Given the description of an element on the screen output the (x, y) to click on. 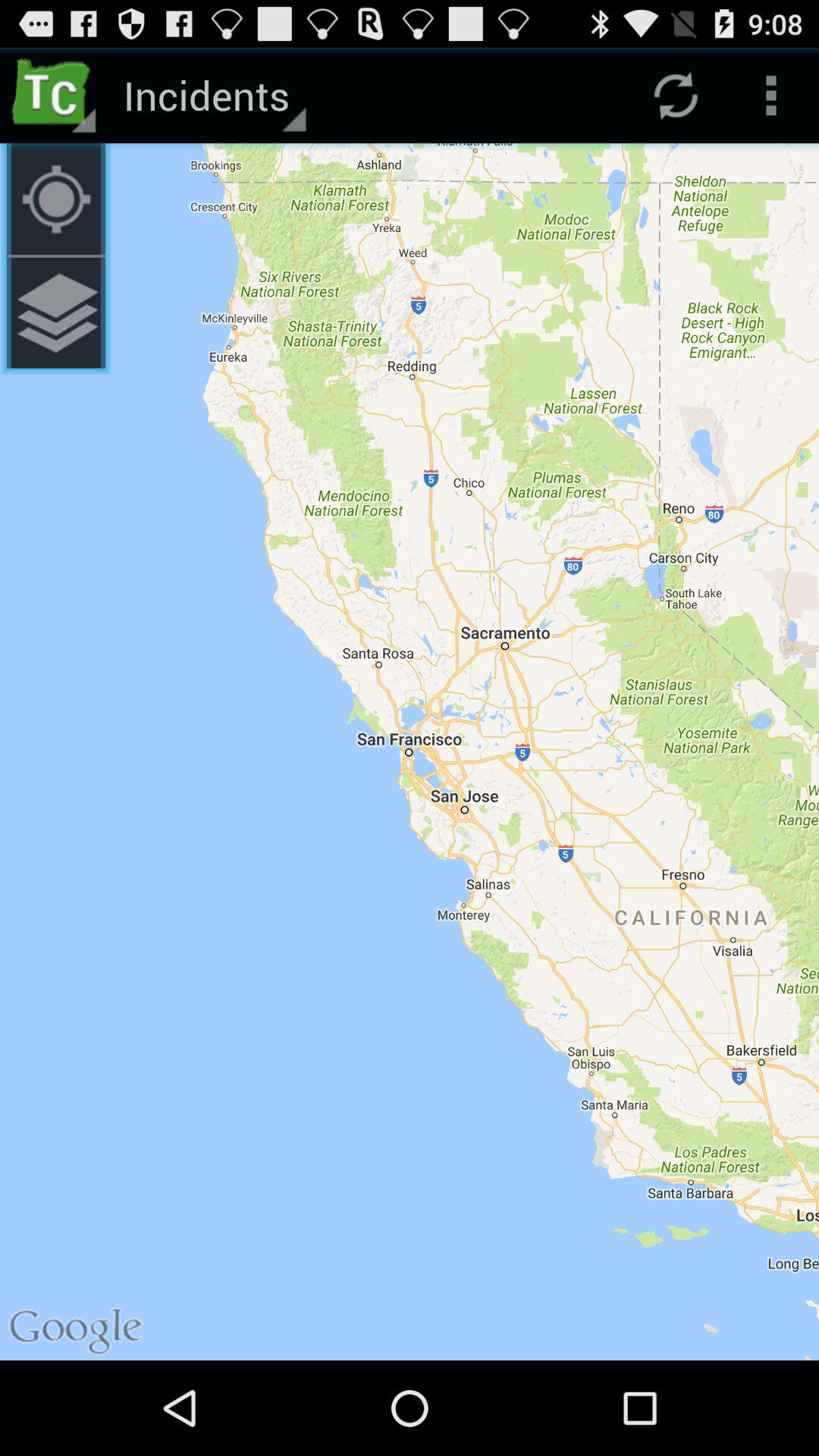
scroll to the incidents icon (212, 95)
